Given the description of an element on the screen output the (x, y) to click on. 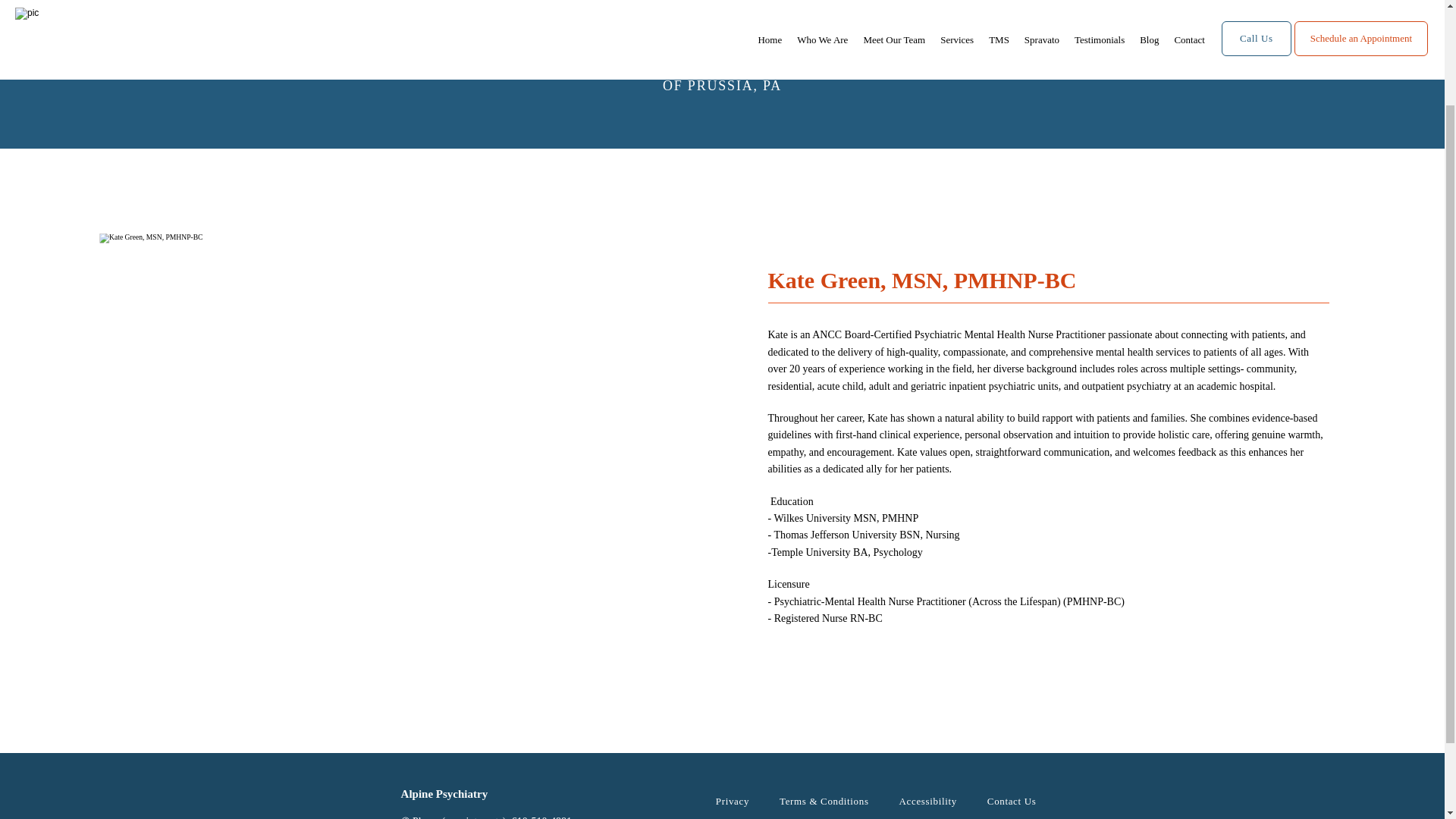
Privacy (732, 800)
Accessibility (927, 800)
Contact Us (1011, 800)
